Given the description of an element on the screen output the (x, y) to click on. 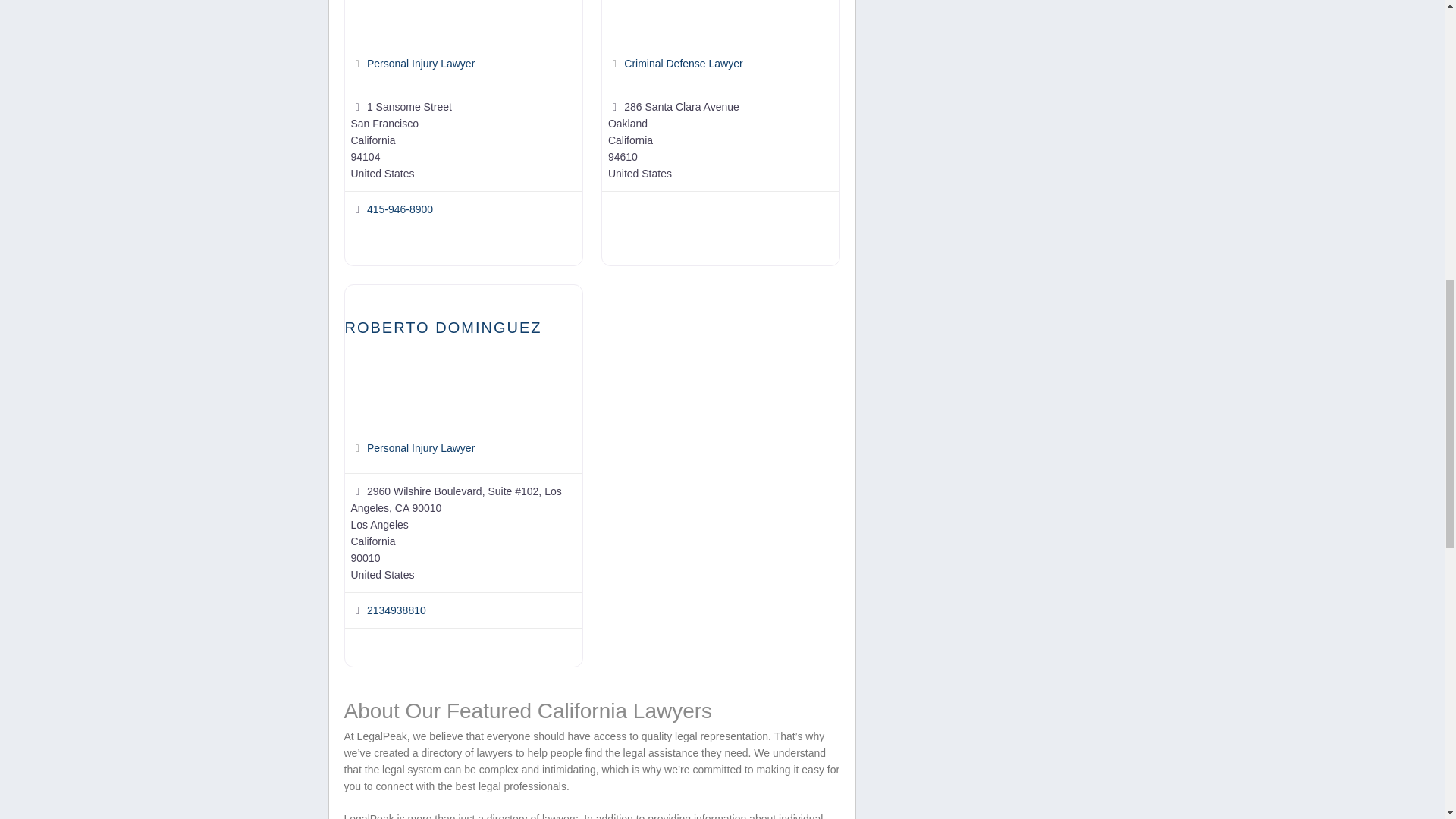
Criminal Defense Lawyer (683, 63)
Personal Injury Lawyer (420, 448)
415-946-8900 (399, 209)
View: Roberto Dominguez (442, 327)
ROBERTO DOMINGUEZ (442, 327)
Personal Injury Lawyer (420, 63)
2134938810 (396, 610)
